Given the description of an element on the screen output the (x, y) to click on. 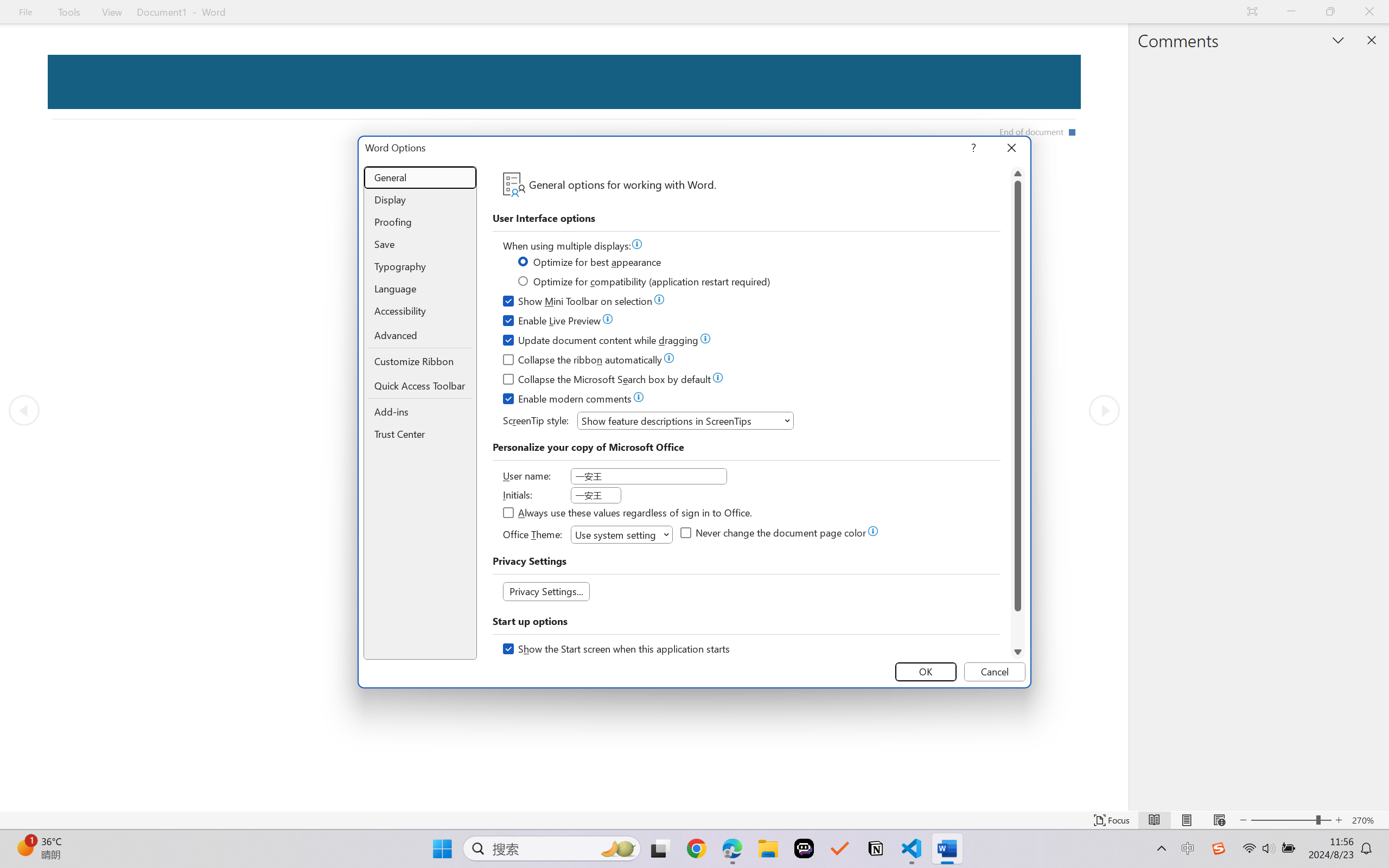
Typography (419, 266)
OK (926, 671)
Never change the document page color (774, 534)
Optimize for compatibility (application restart required) (645, 283)
Increase Text Size (1338, 819)
Enable modern comments (567, 400)
